Given the description of an element on the screen output the (x, y) to click on. 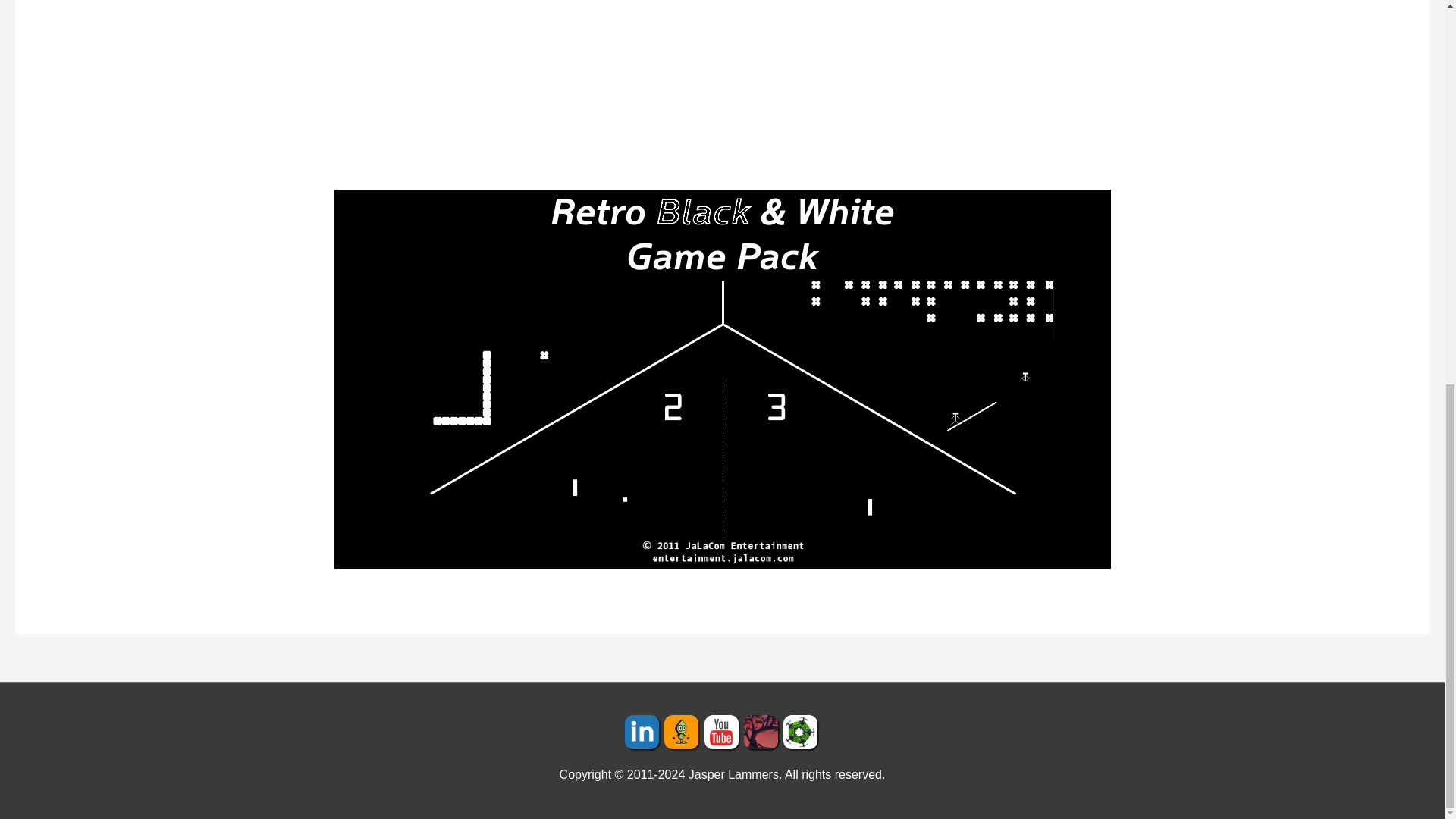
Mind Dough (763, 731)
Code Project (683, 731)
LinkedIn (643, 731)
Strategic RPS (801, 731)
YouTube (722, 731)
